Given the description of an element on the screen output the (x, y) to click on. 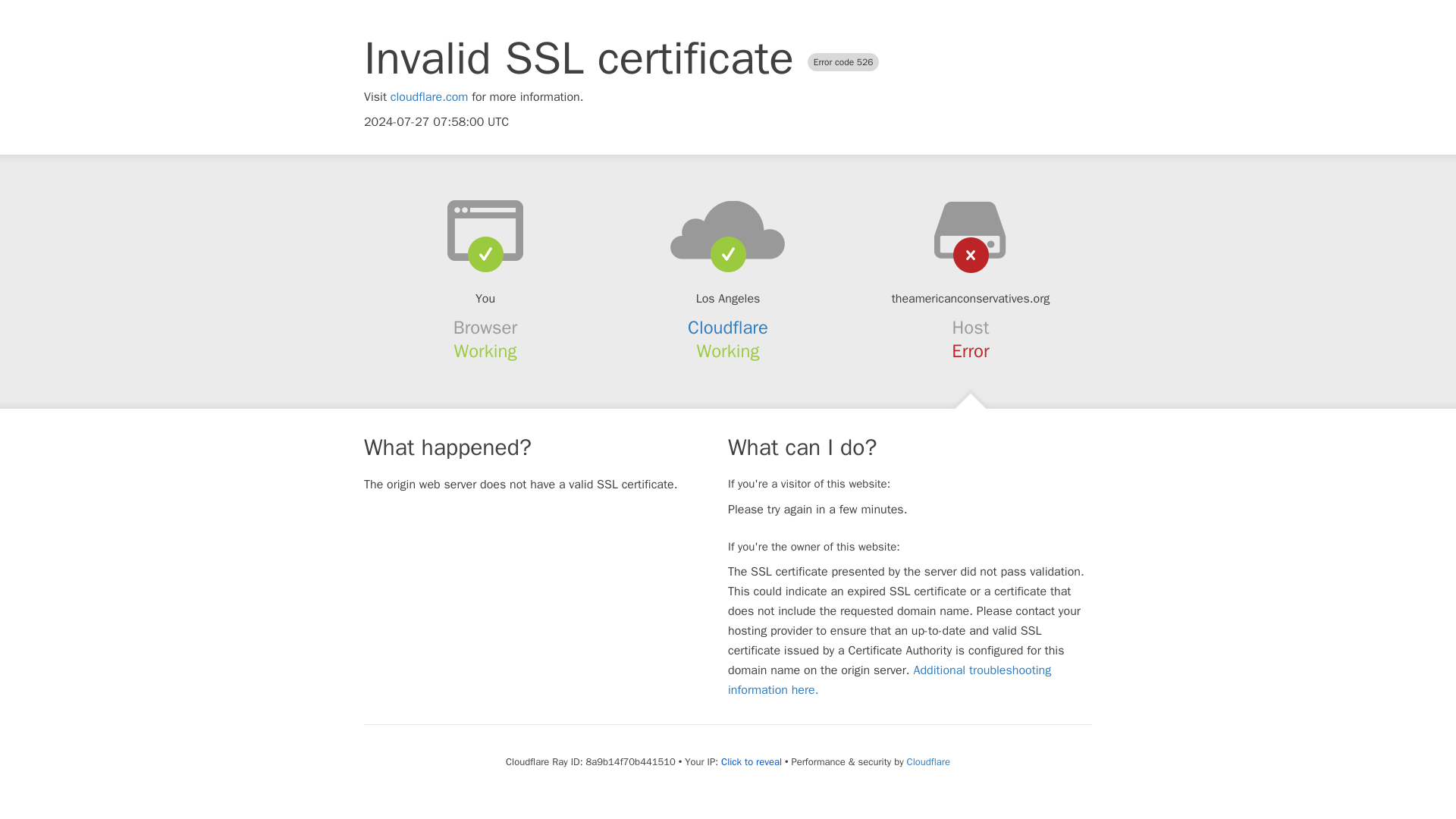
Additional troubleshooting information here. (889, 679)
Click to reveal (750, 762)
Cloudflare (928, 761)
Cloudflare (727, 327)
cloudflare.com (429, 96)
